Given the description of an element on the screen output the (x, y) to click on. 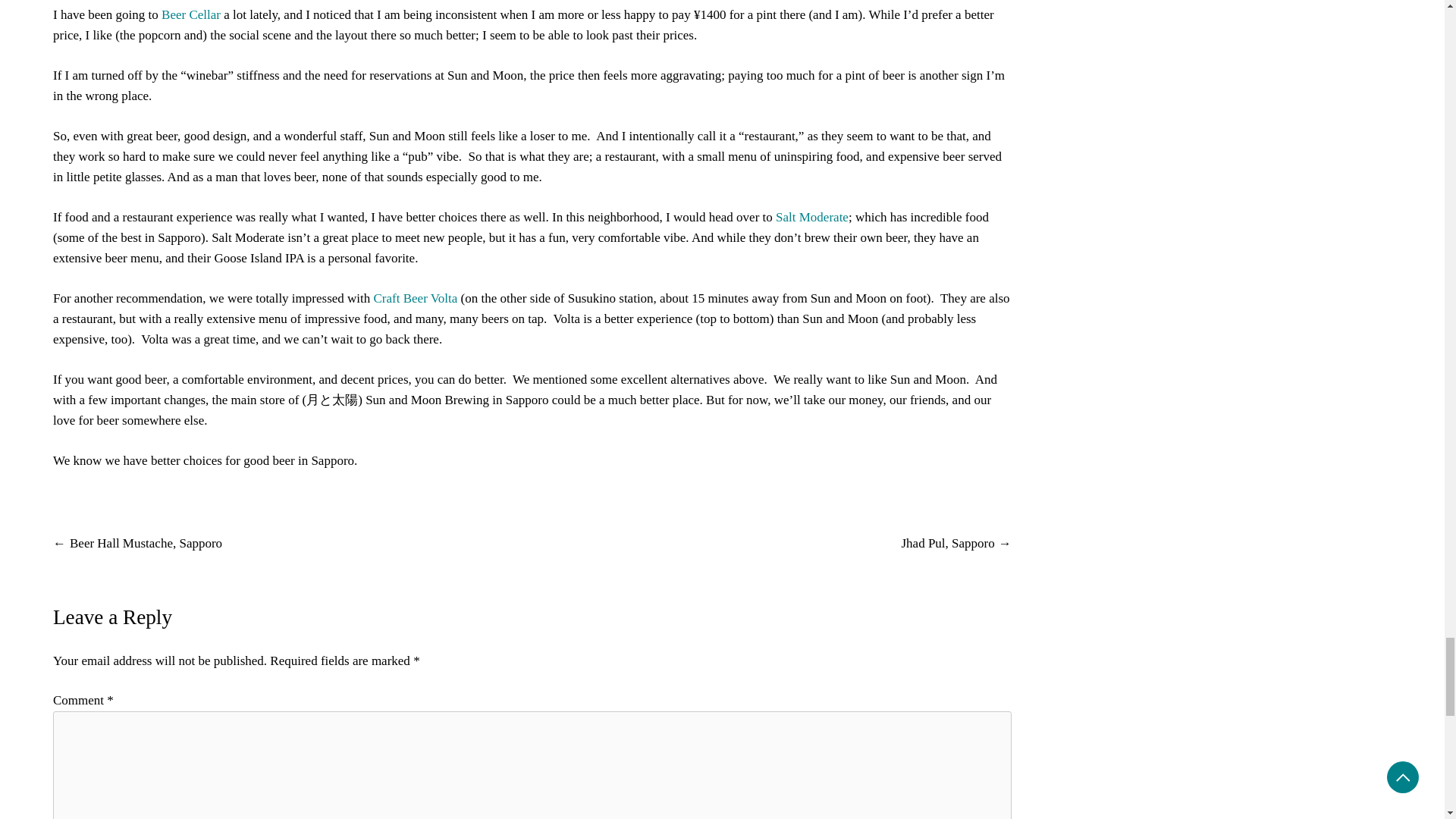
Craft Beer Volta (416, 298)
Beer Cellar (191, 14)
Beer Hall Mustache, Sapporo (145, 543)
Jhad Pul, Sapporo (947, 543)
Salt Moderate (812, 216)
